Given the description of an element on the screen output the (x, y) to click on. 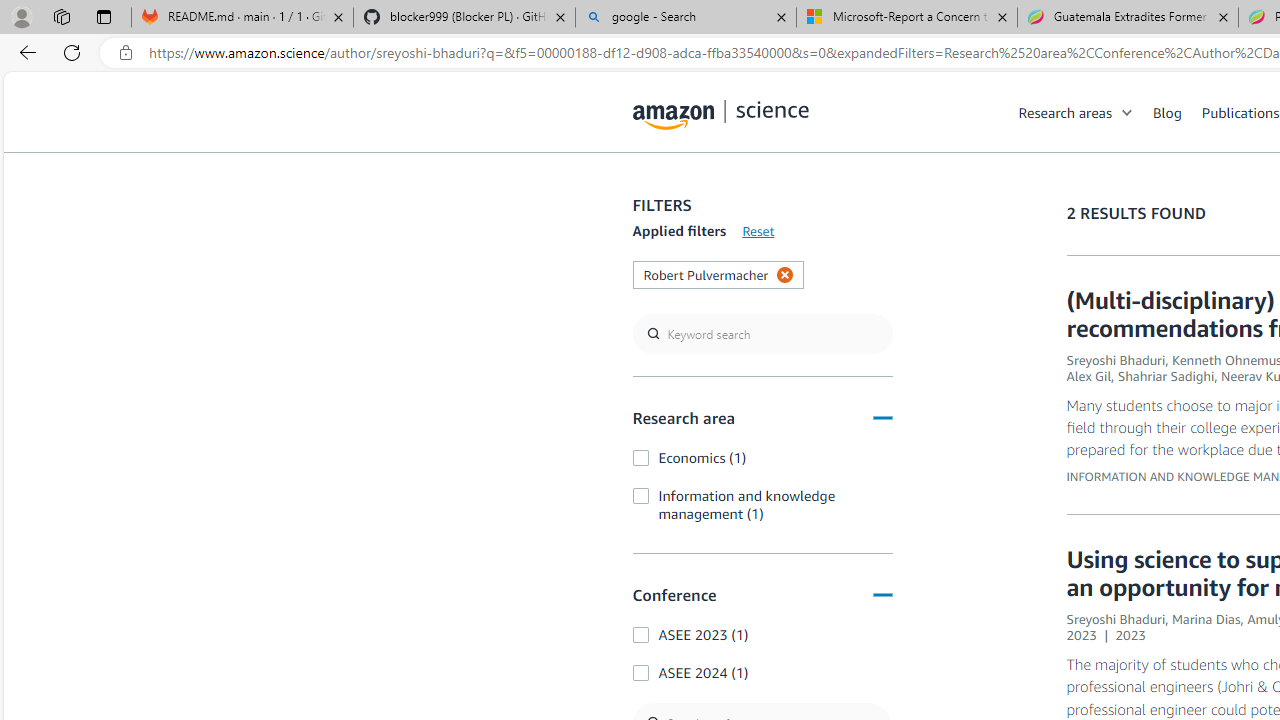
Blog (1177, 111)
Open Sub Navigation (1128, 111)
Blog (1167, 111)
home page (721, 110)
